Given the description of an element on the screen output the (x, y) to click on. 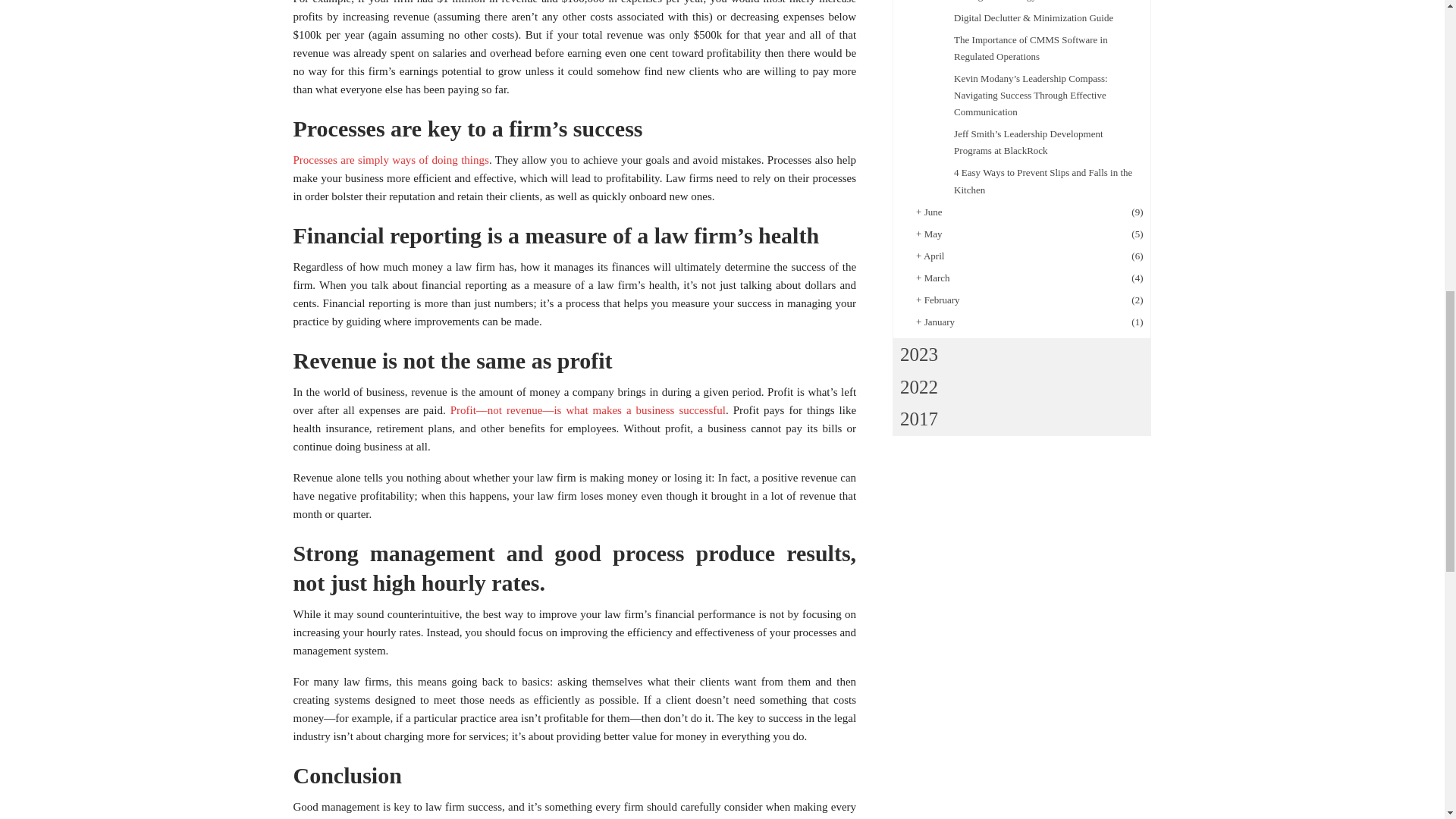
Processes are simply ways of doing things (389, 159)
